Given the description of an element on the screen output the (x, y) to click on. 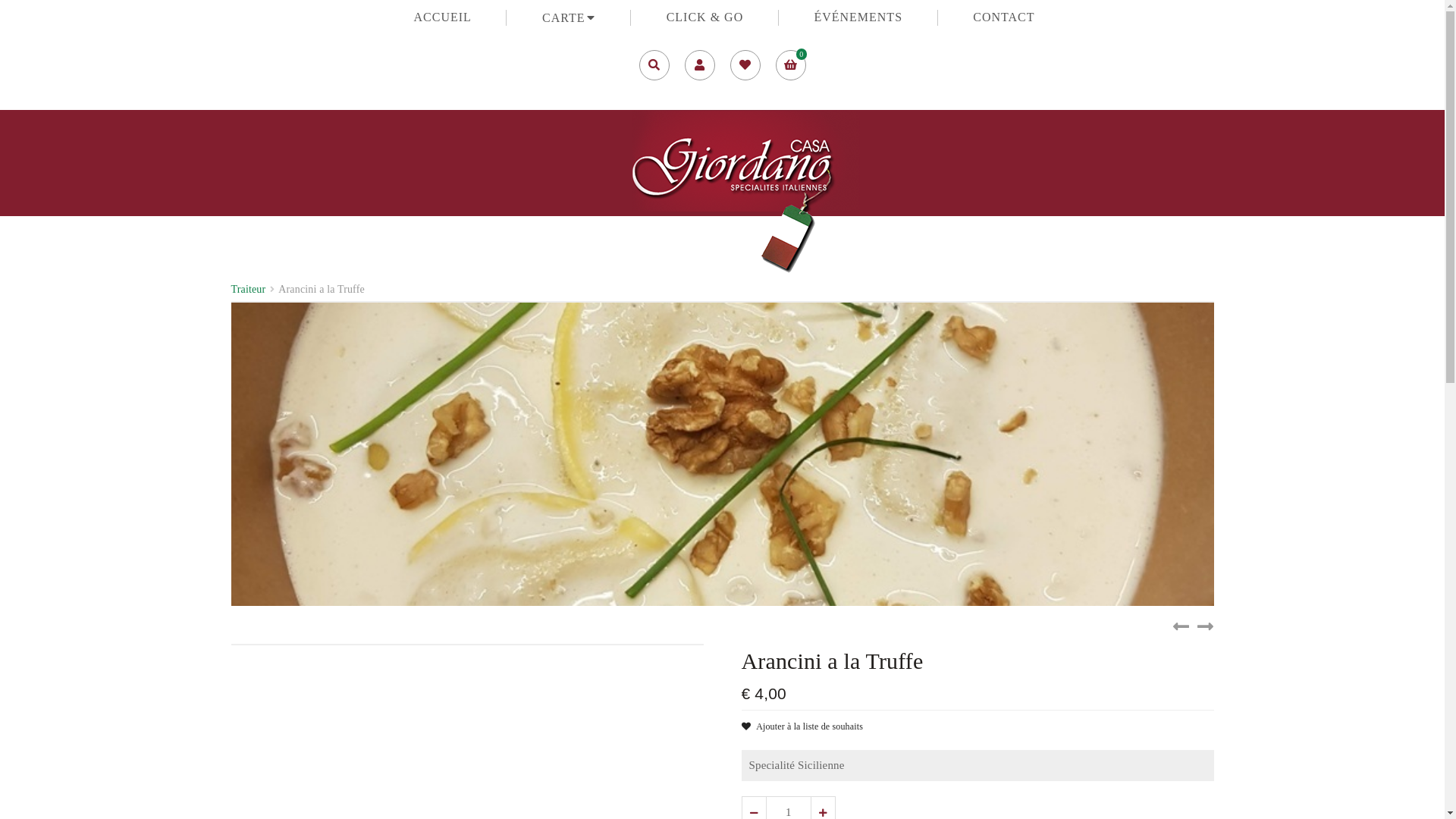
Traiteur Element type: text (247, 288)
Rechercher Element type: text (864, 419)
ACCUEIL Element type: text (442, 17)
CARTE Element type: text (568, 17)
0 Element type: text (790, 65)
CONTACT Element type: text (1003, 17)
CLICK & GO Element type: text (704, 17)
Suivant Element type: text (1204, 626)
